Given the description of an element on the screen output the (x, y) to click on. 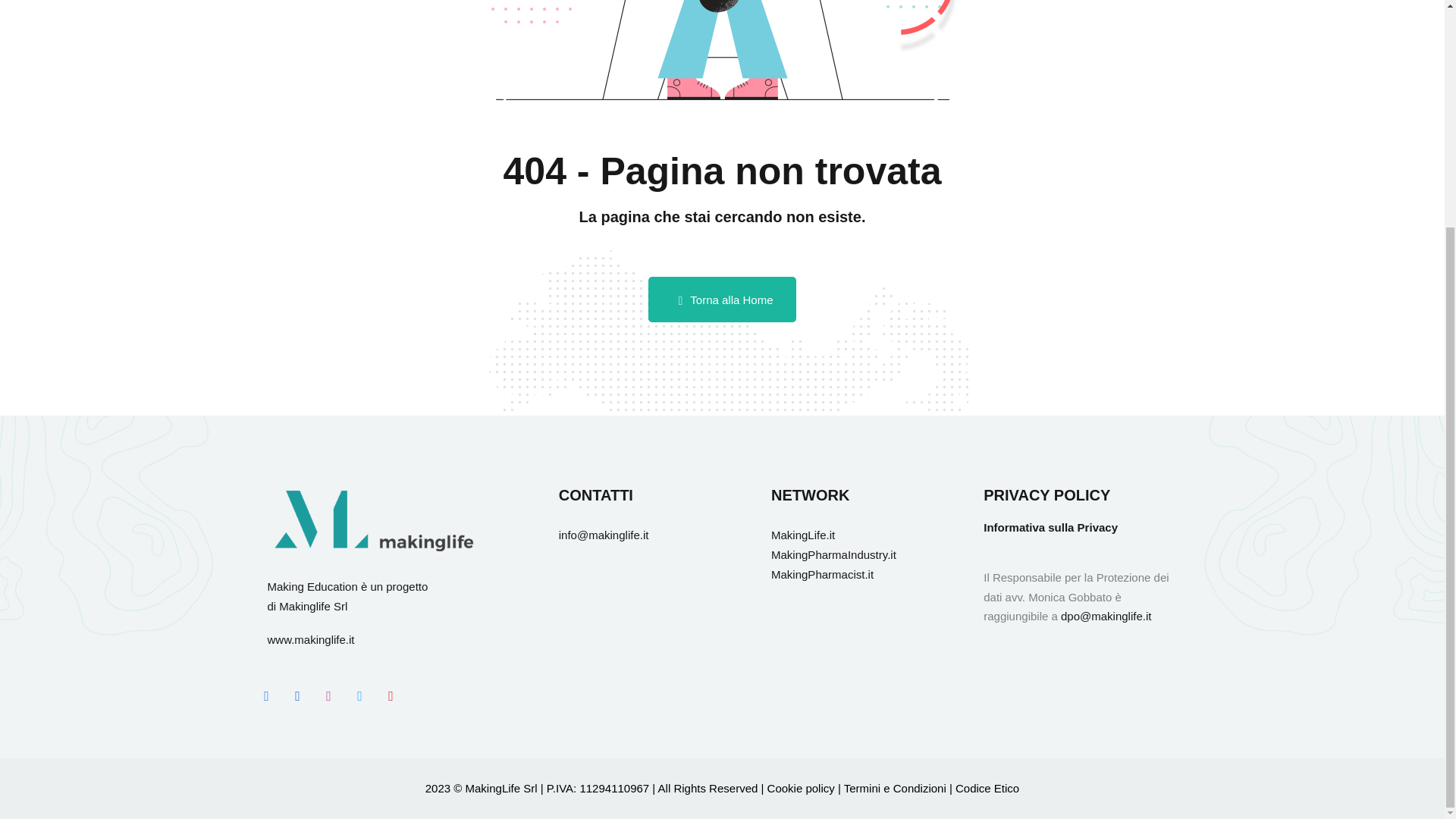
MakingPharmaIndustry.it (833, 554)
www.makinglife.it (309, 639)
MakingLife.it (802, 534)
Torna alla Home (720, 299)
MakingPharmacist.it (822, 573)
